Given the description of an element on the screen output the (x, y) to click on. 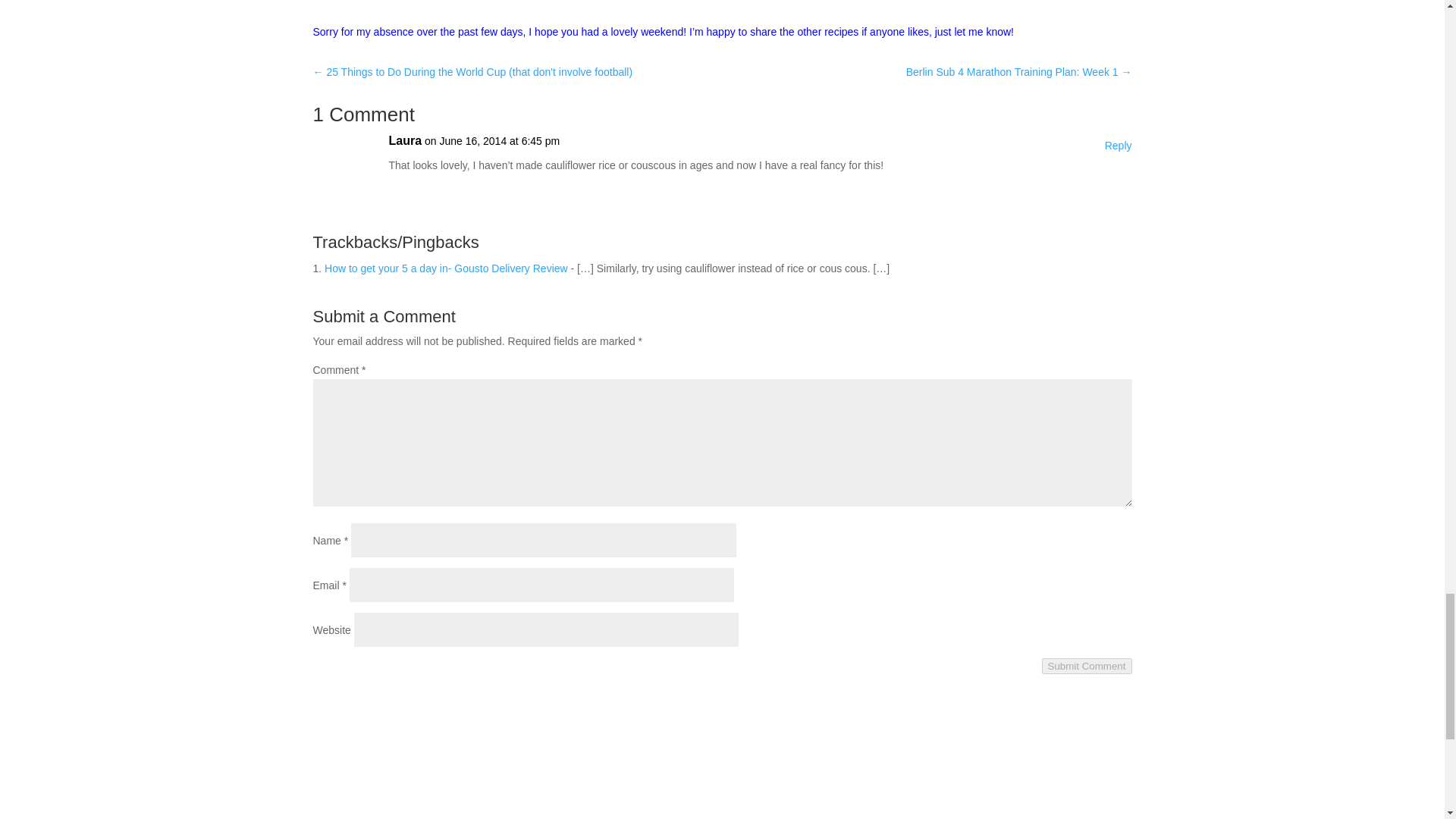
How to get your 5 a day in- Gousto Delivery Review (445, 268)
Submit Comment (1087, 666)
Reply (1118, 146)
Laura (405, 140)
